Given the description of an element on the screen output the (x, y) to click on. 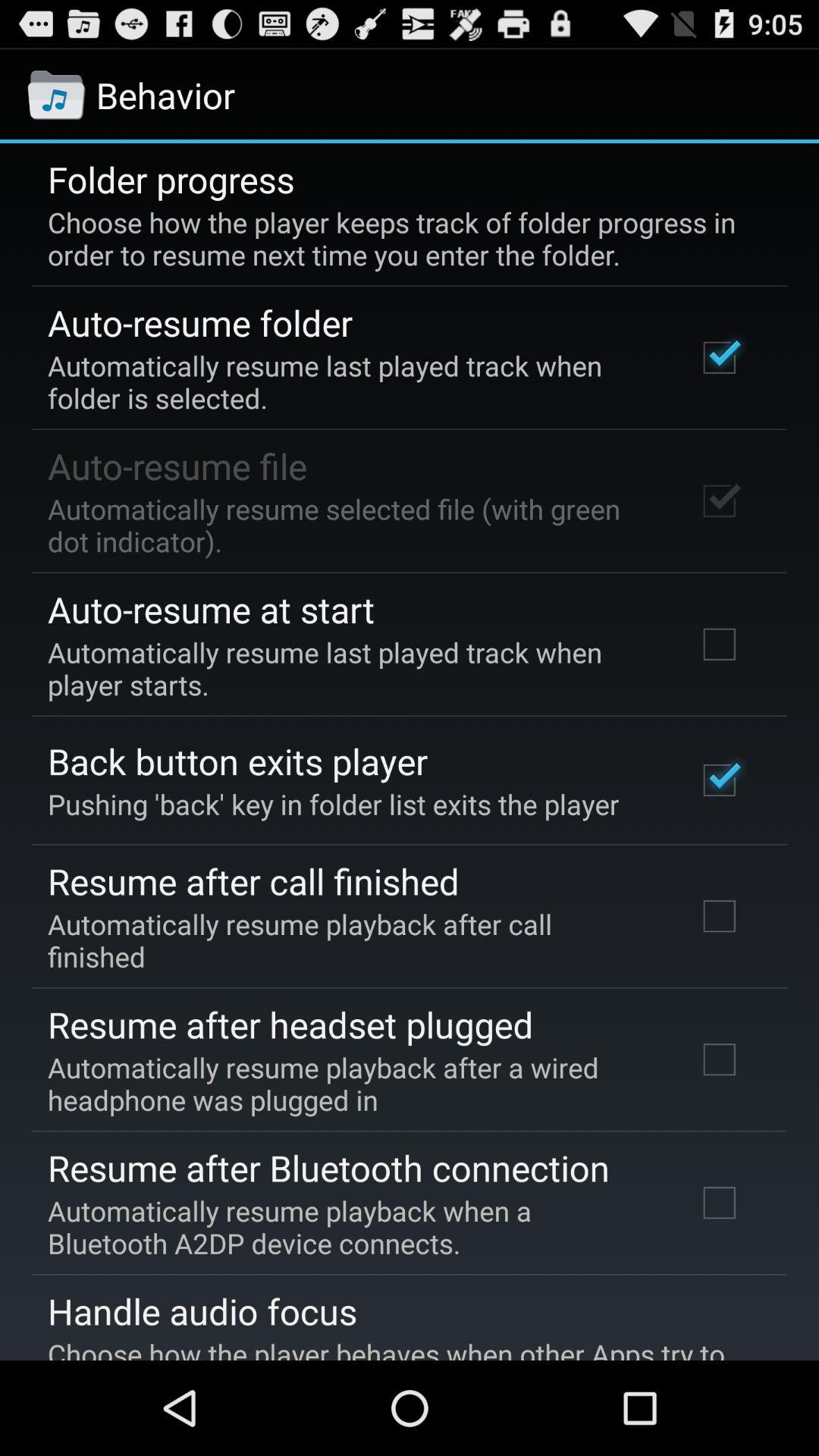
launch handle audio focus item (202, 1311)
